Given the description of an element on the screen output the (x, y) to click on. 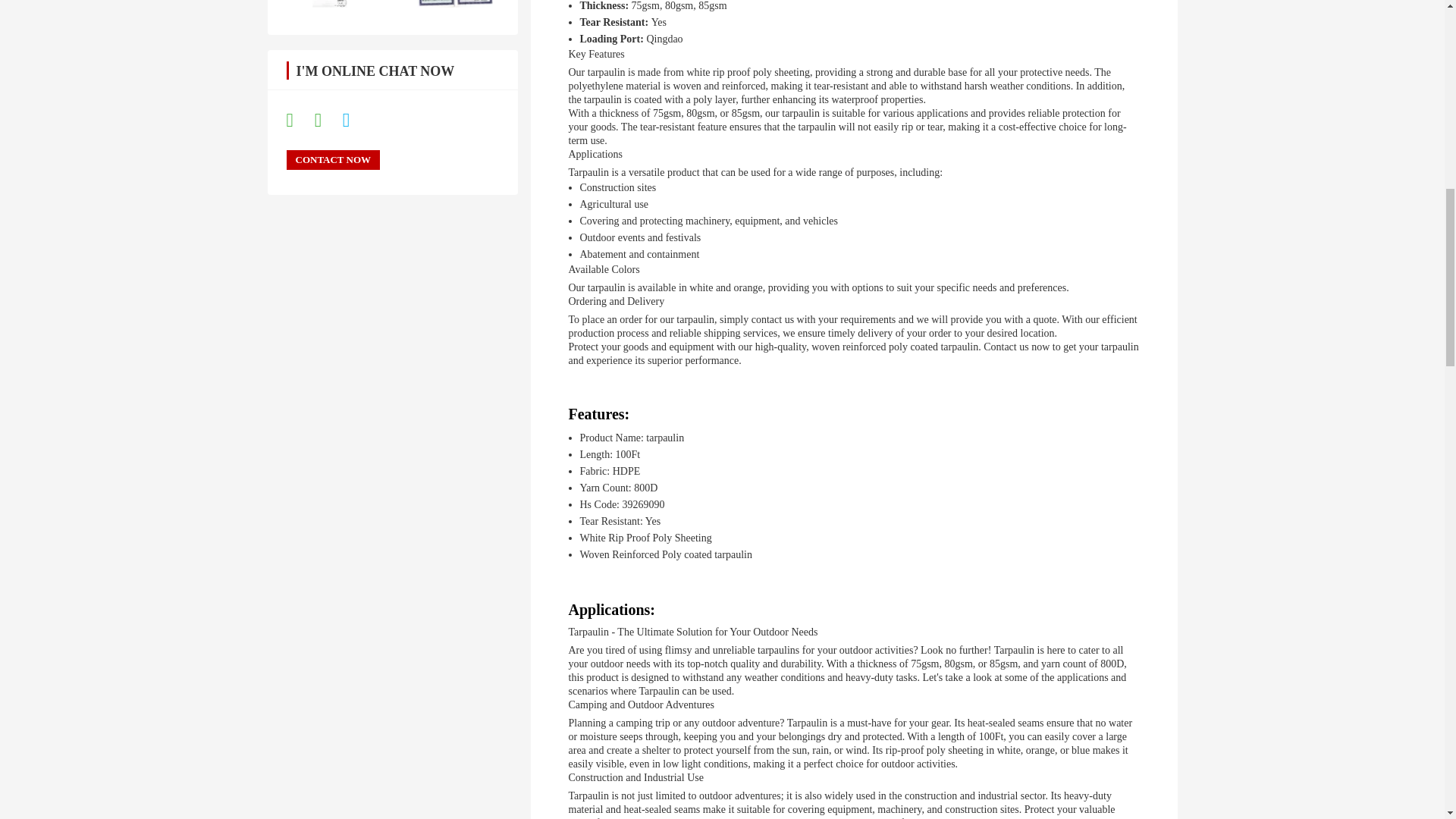
Contact Now (333, 159)
Contact Now (333, 159)
